Given the description of an element on the screen output the (x, y) to click on. 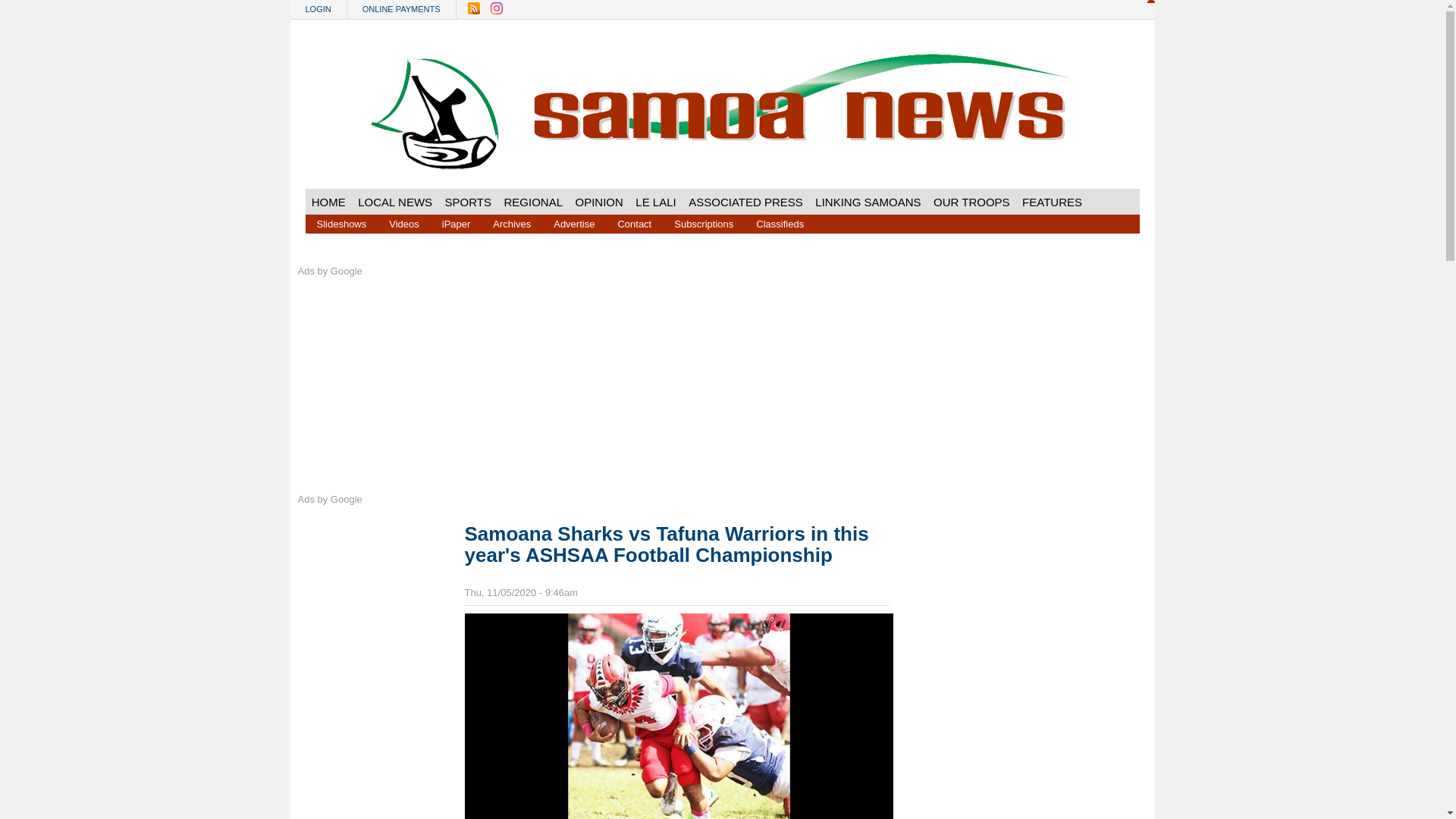
Regional (533, 202)
Local News (395, 202)
Features (1051, 202)
Our Troops (971, 202)
Sports (467, 202)
Videos (403, 223)
FEATURES (1051, 202)
REGIONAL (533, 202)
OUR TROOPS (971, 202)
Opinion (598, 202)
Contact (633, 223)
LOCAL NEWS (395, 202)
iPaper (455, 223)
Classifieds (779, 223)
LOGIN (317, 9)
